Given the description of an element on the screen output the (x, y) to click on. 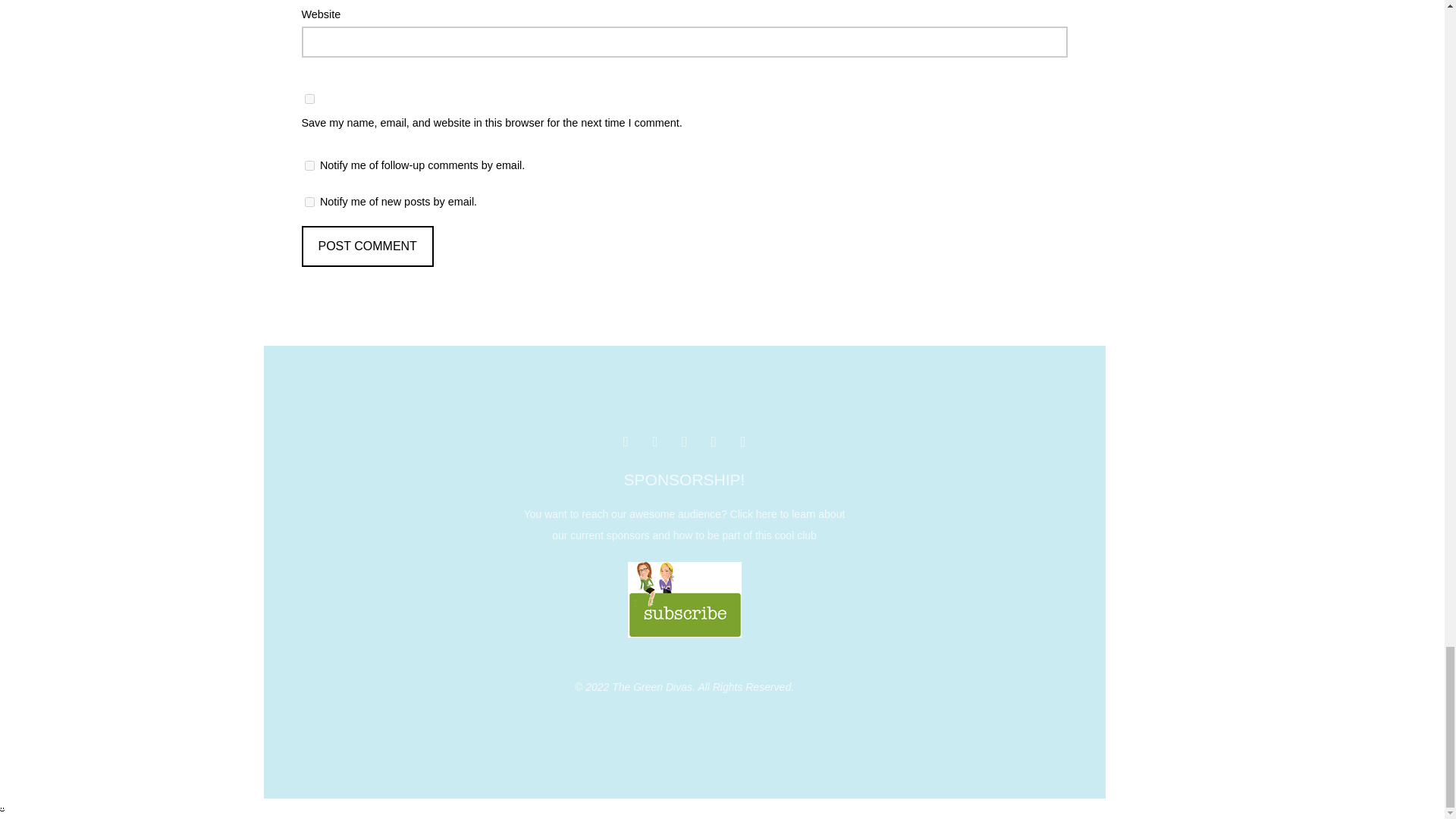
subscribe (309, 165)
Post Comment (367, 246)
subscribe (309, 202)
yes (309, 99)
